Given the description of an element on the screen output the (x, y) to click on. 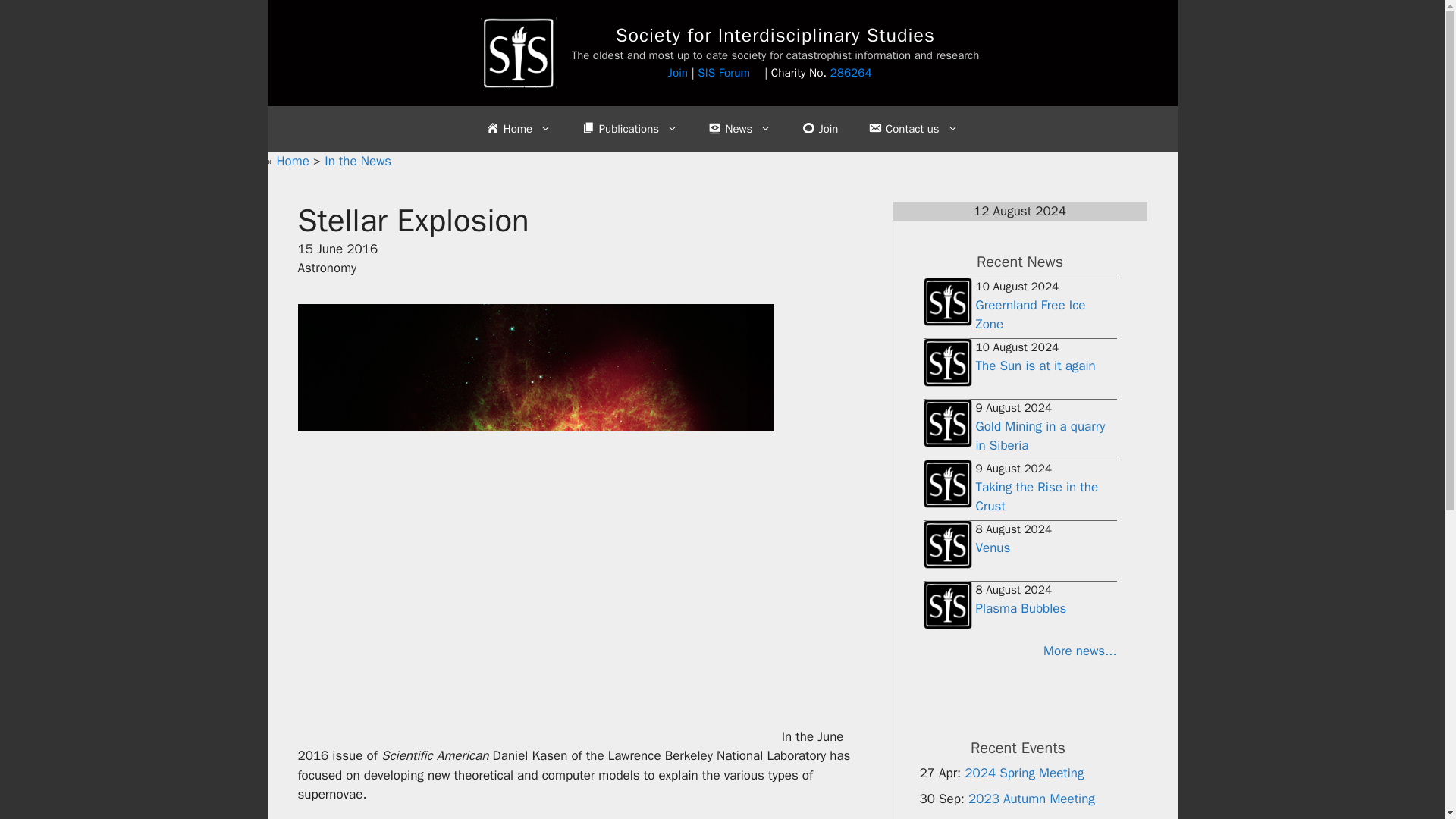
Society for Interdisciplinary Studies (774, 34)
News (739, 128)
286264 (856, 72)
Gold Mining in a quarry in Siberia (1040, 436)
Home (294, 160)
Taking the Rise in the Crust (1036, 497)
The Sun is at it again (1034, 365)
In the News (357, 160)
Join (677, 72)
More news... (1019, 650)
